Given the description of an element on the screen output the (x, y) to click on. 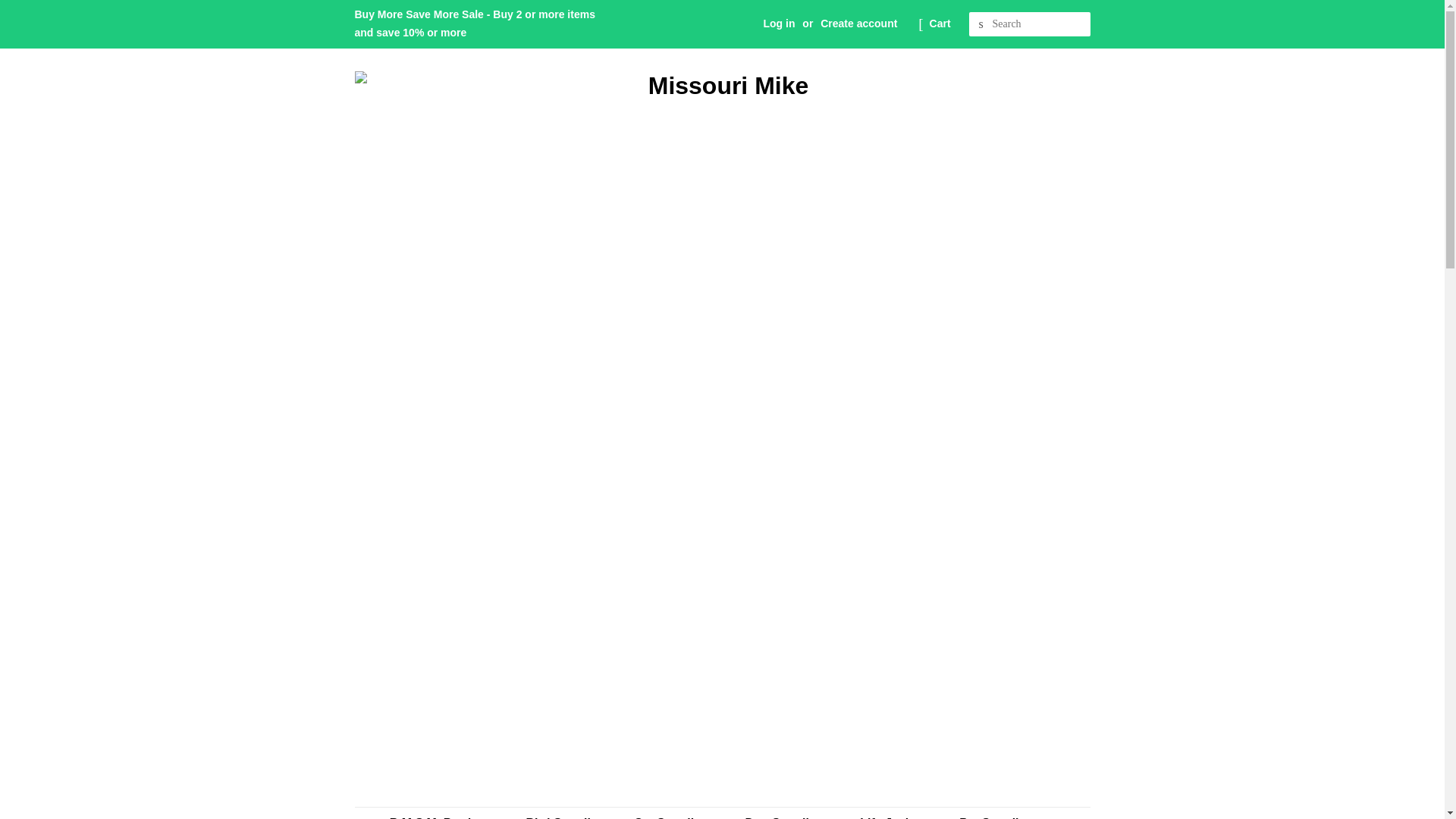
Cart (940, 24)
Create account (858, 23)
Search (980, 24)
Log in (778, 23)
